Given the description of an element on the screen output the (x, y) to click on. 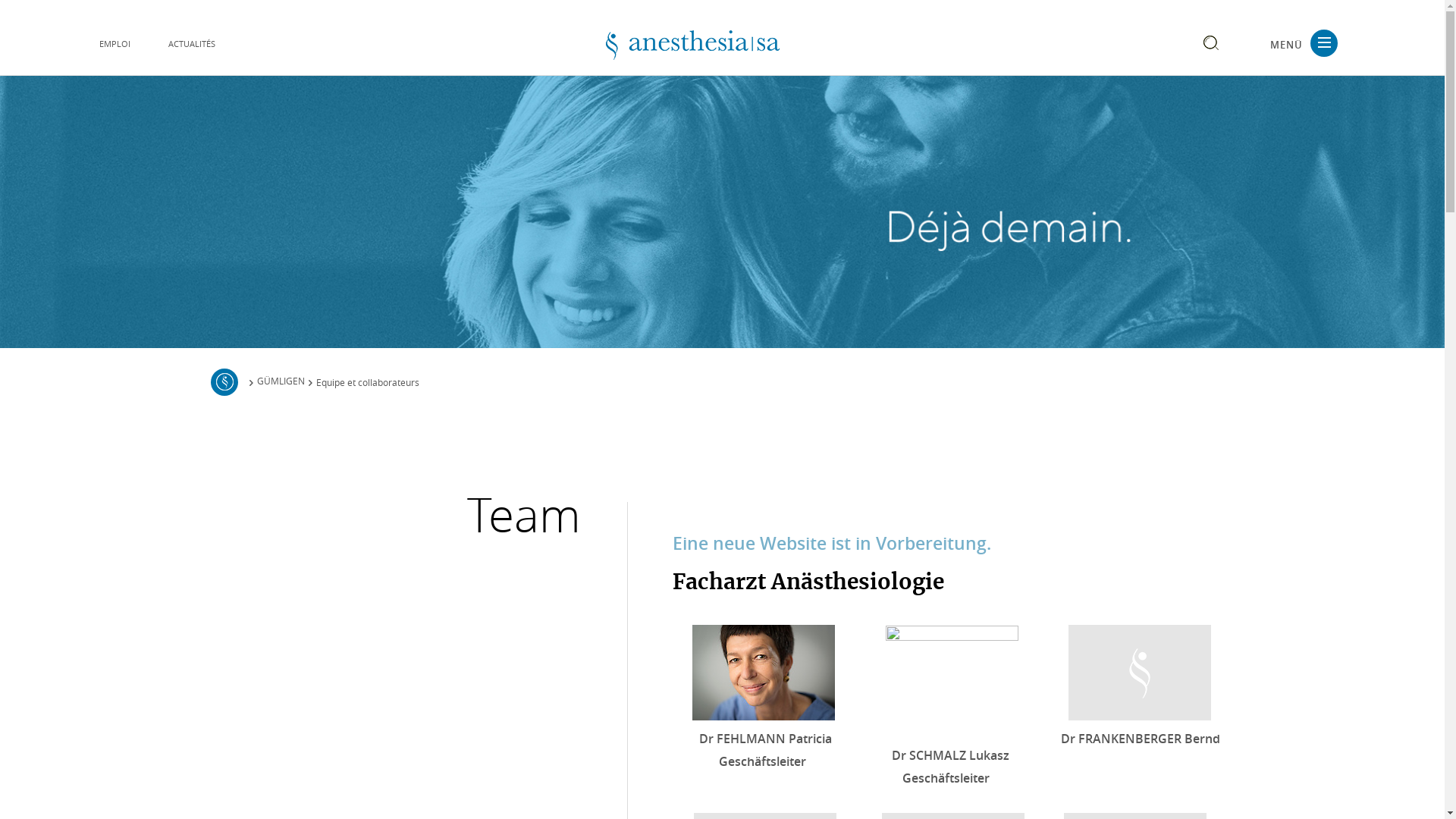
EMPLOI Element type: text (113, 43)
Equipe et collaborateurs Element type: text (367, 382)
